Given the description of an element on the screen output the (x, y) to click on. 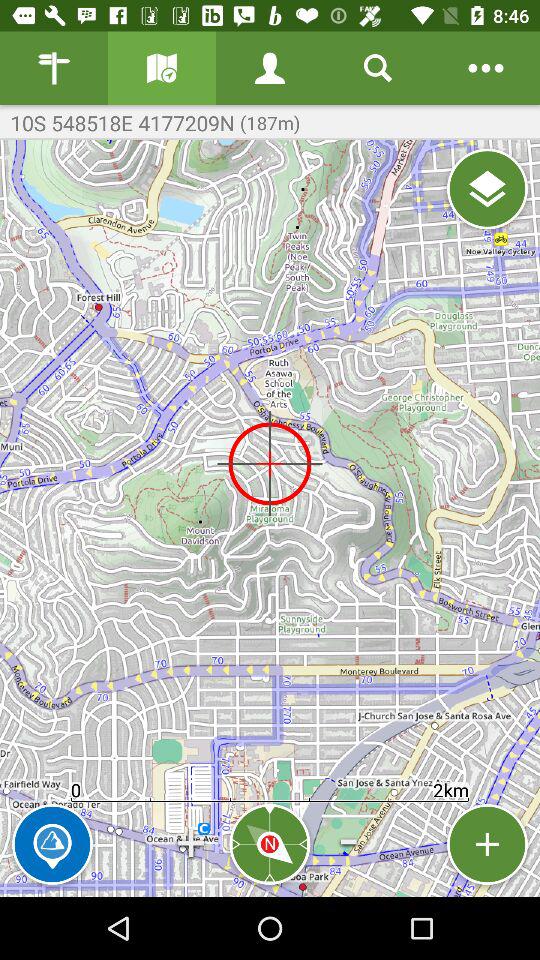
go to all (487, 188)
